Given the description of an element on the screen output the (x, y) to click on. 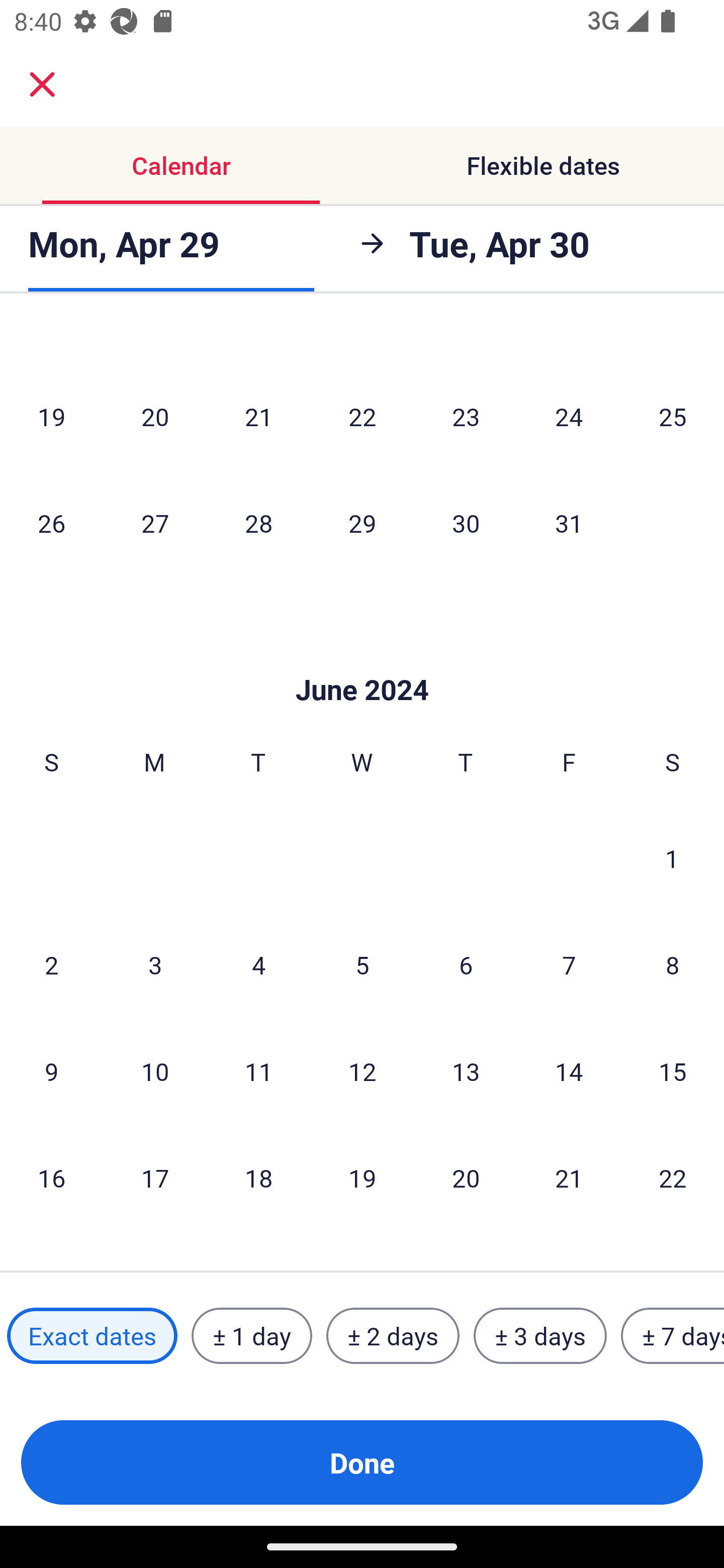
close. (42, 84)
Flexible dates (542, 164)
19 Sunday, May 19, 2024 (51, 416)
20 Monday, May 20, 2024 (155, 416)
21 Tuesday, May 21, 2024 (258, 416)
22 Wednesday, May 22, 2024 (362, 416)
23 Thursday, May 23, 2024 (465, 416)
24 Friday, May 24, 2024 (569, 416)
25 Saturday, May 25, 2024 (672, 416)
26 Sunday, May 26, 2024 (51, 522)
27 Monday, May 27, 2024 (155, 522)
28 Tuesday, May 28, 2024 (258, 522)
29 Wednesday, May 29, 2024 (362, 522)
30 Thursday, May 30, 2024 (465, 522)
31 Friday, May 31, 2024 (569, 522)
Skip to Done (362, 659)
1 Saturday, June 1, 2024 (672, 857)
2 Sunday, June 2, 2024 (51, 964)
3 Monday, June 3, 2024 (155, 964)
4 Tuesday, June 4, 2024 (258, 964)
5 Wednesday, June 5, 2024 (362, 964)
6 Thursday, June 6, 2024 (465, 964)
7 Friday, June 7, 2024 (569, 964)
8 Saturday, June 8, 2024 (672, 964)
9 Sunday, June 9, 2024 (51, 1070)
10 Monday, June 10, 2024 (155, 1070)
11 Tuesday, June 11, 2024 (258, 1070)
12 Wednesday, June 12, 2024 (362, 1070)
13 Thursday, June 13, 2024 (465, 1070)
14 Friday, June 14, 2024 (569, 1070)
15 Saturday, June 15, 2024 (672, 1070)
16 Sunday, June 16, 2024 (51, 1177)
17 Monday, June 17, 2024 (155, 1177)
18 Tuesday, June 18, 2024 (258, 1177)
19 Wednesday, June 19, 2024 (362, 1177)
20 Thursday, June 20, 2024 (465, 1177)
21 Friday, June 21, 2024 (569, 1177)
22 Saturday, June 22, 2024 (672, 1177)
Exact dates (92, 1335)
± 1 day (251, 1335)
± 2 days (392, 1335)
± 3 days (539, 1335)
± 7 days (672, 1335)
Done (361, 1462)
